Given the description of an element on the screen output the (x, y) to click on. 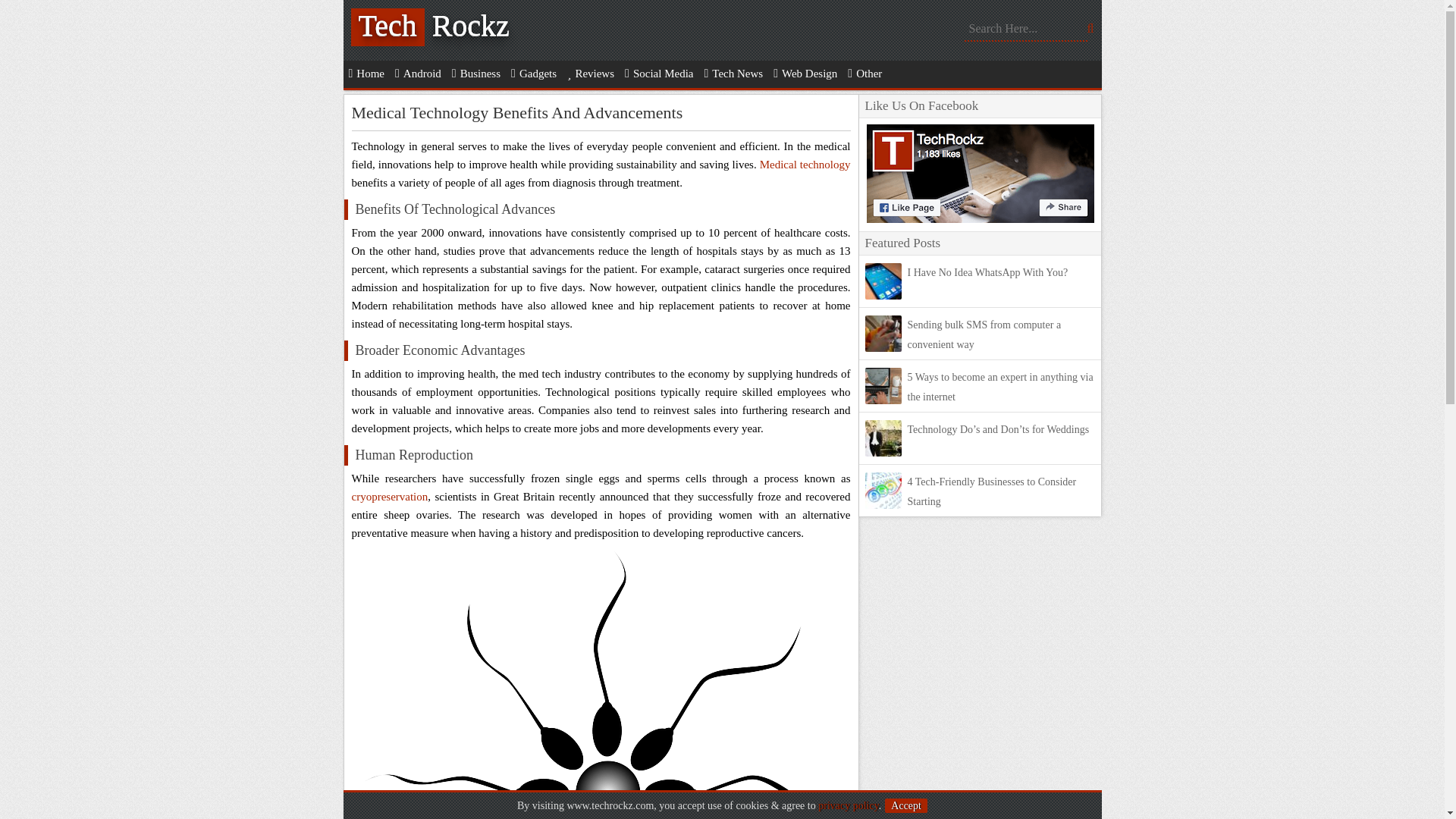
Home (366, 72)
Gadgets (533, 72)
privacy policy (848, 805)
Accept (906, 805)
Android (418, 72)
Other (864, 72)
Medical technology (805, 164)
Sending bulk SMS from computer a convenient way (984, 334)
Medical Technology Benefits And Advancements (517, 112)
4 Tech-Friendly Businesses to Consider Starting (991, 490)
Business (475, 72)
5 Ways to become an expert in anything via the internet (1000, 386)
cryopreservation (390, 496)
Tech News (733, 72)
Social Media (659, 72)
